Given the description of an element on the screen output the (x, y) to click on. 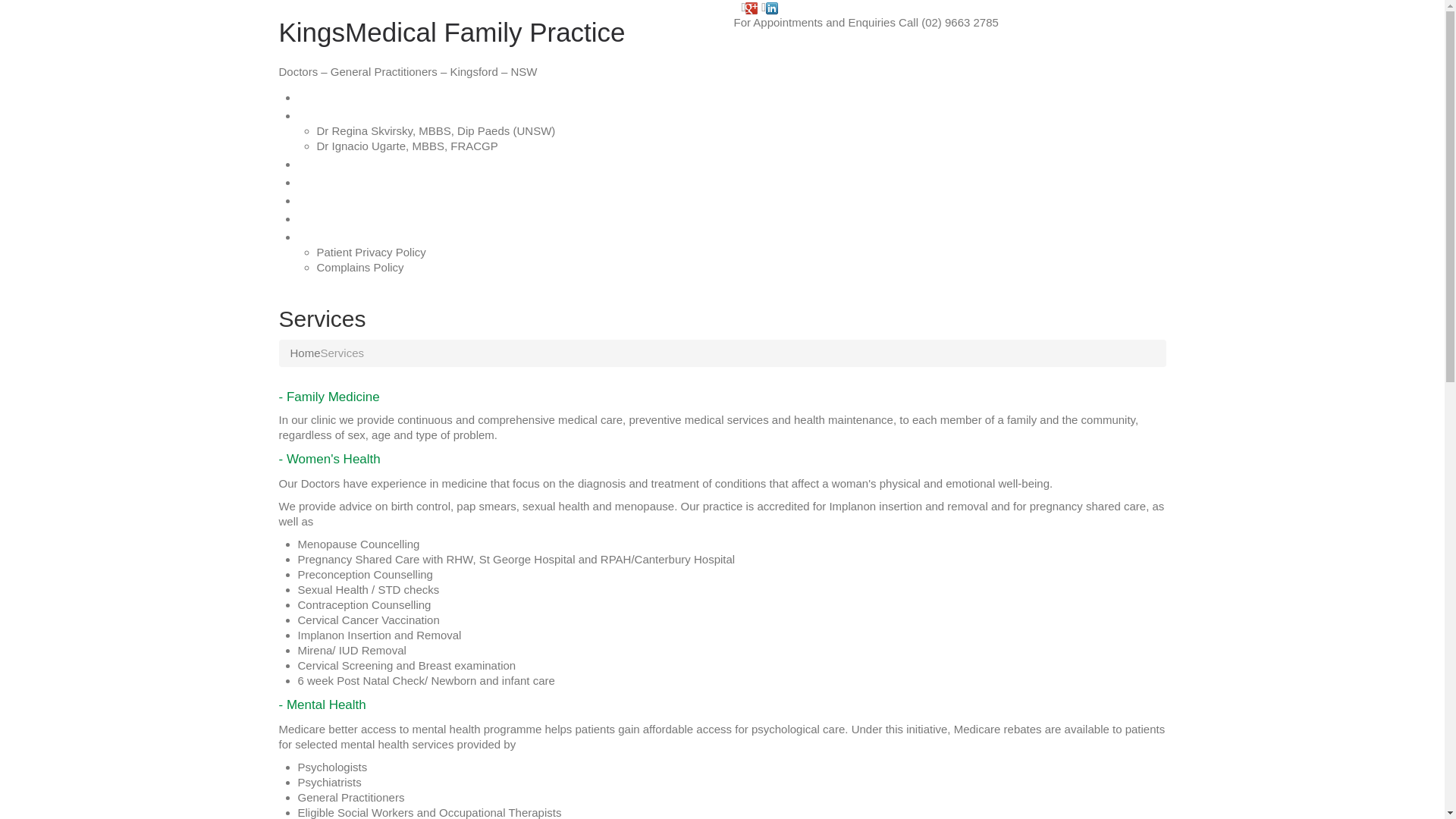
Dr Regina Skvirsky, MBBS, Dip Paeds (UNSW) Element type: text (435, 130)
Home Element type: text (317, 95)
Complains Policy Element type: text (360, 266)
Billing Element type: text (317, 217)
Contact Us Element type: text (334, 180)
Dr Ignacio Ugarte, MBBS, FRACGP Element type: text (407, 145)
About Us Element type: text (328, 199)
Services Element type: text (326, 162)
Home Element type: text (304, 352)
Policies Element type: text (323, 235)
Patient Privacy Policy Element type: text (371, 251)
KingsMedical Family Practice Element type: text (452, 32)
Our Doctors Element type: text (338, 114)
